Given the description of an element on the screen output the (x, y) to click on. 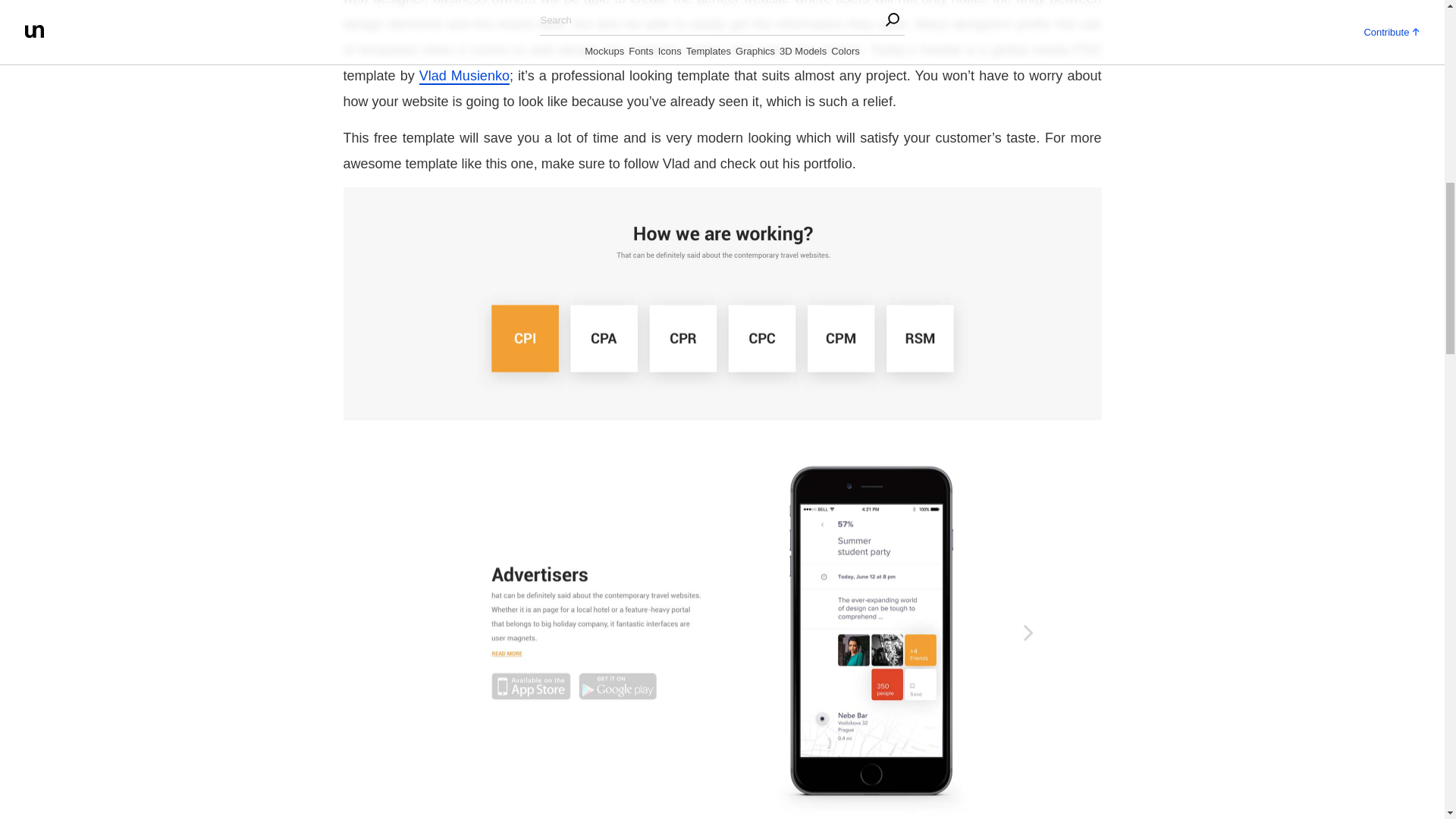
Vlad Musienko (464, 76)
